Given the description of an element on the screen output the (x, y) to click on. 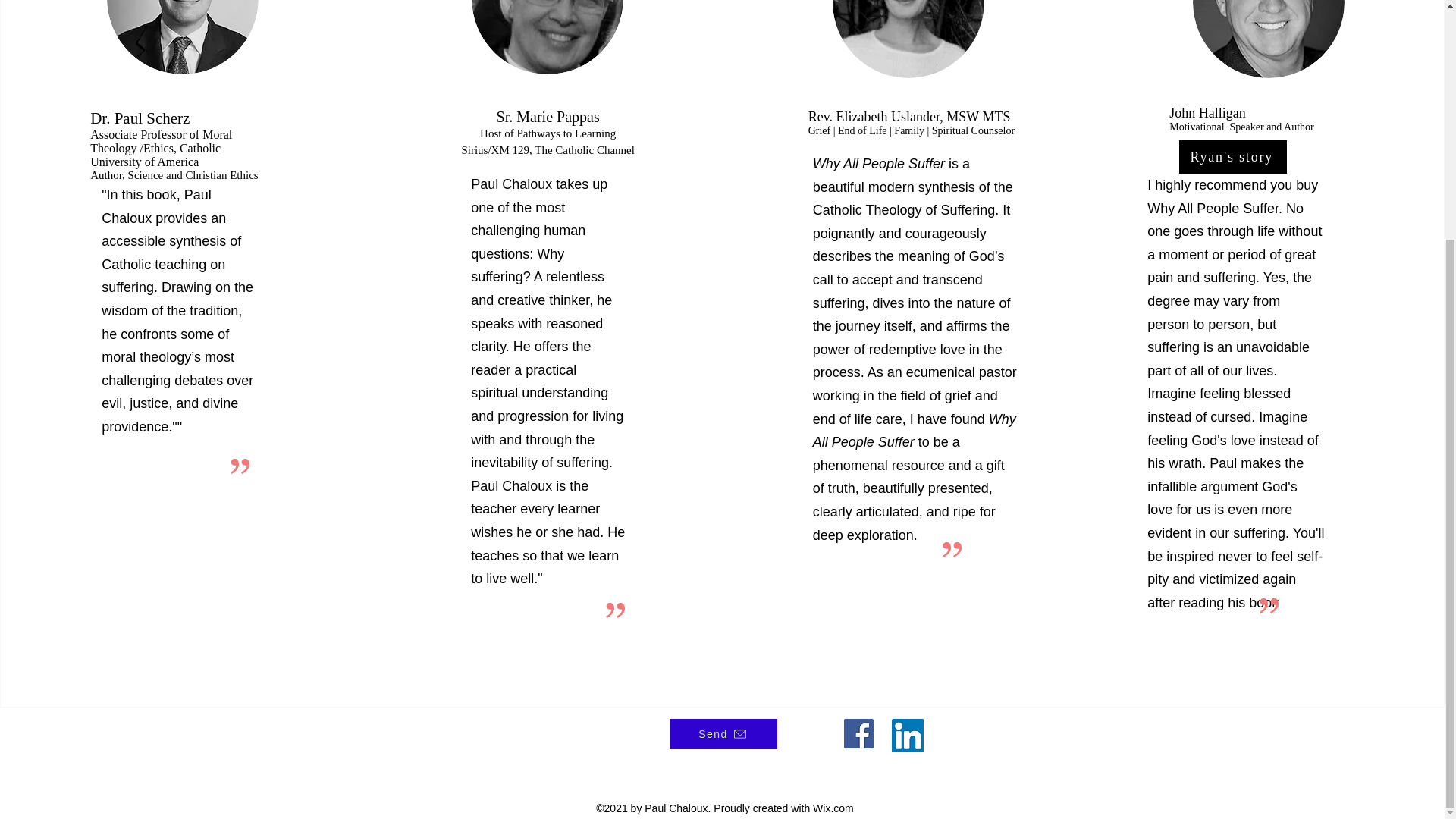
GettyImages-124893619.jpg (547, 37)
Send (722, 734)
GettyImages-145680711.jpg (908, 38)
GettyImages-145680711.jpg (1267, 38)
Ryan's story (1233, 156)
GettyImages-535587703.jpg (182, 37)
